Given the description of an element on the screen output the (x, y) to click on. 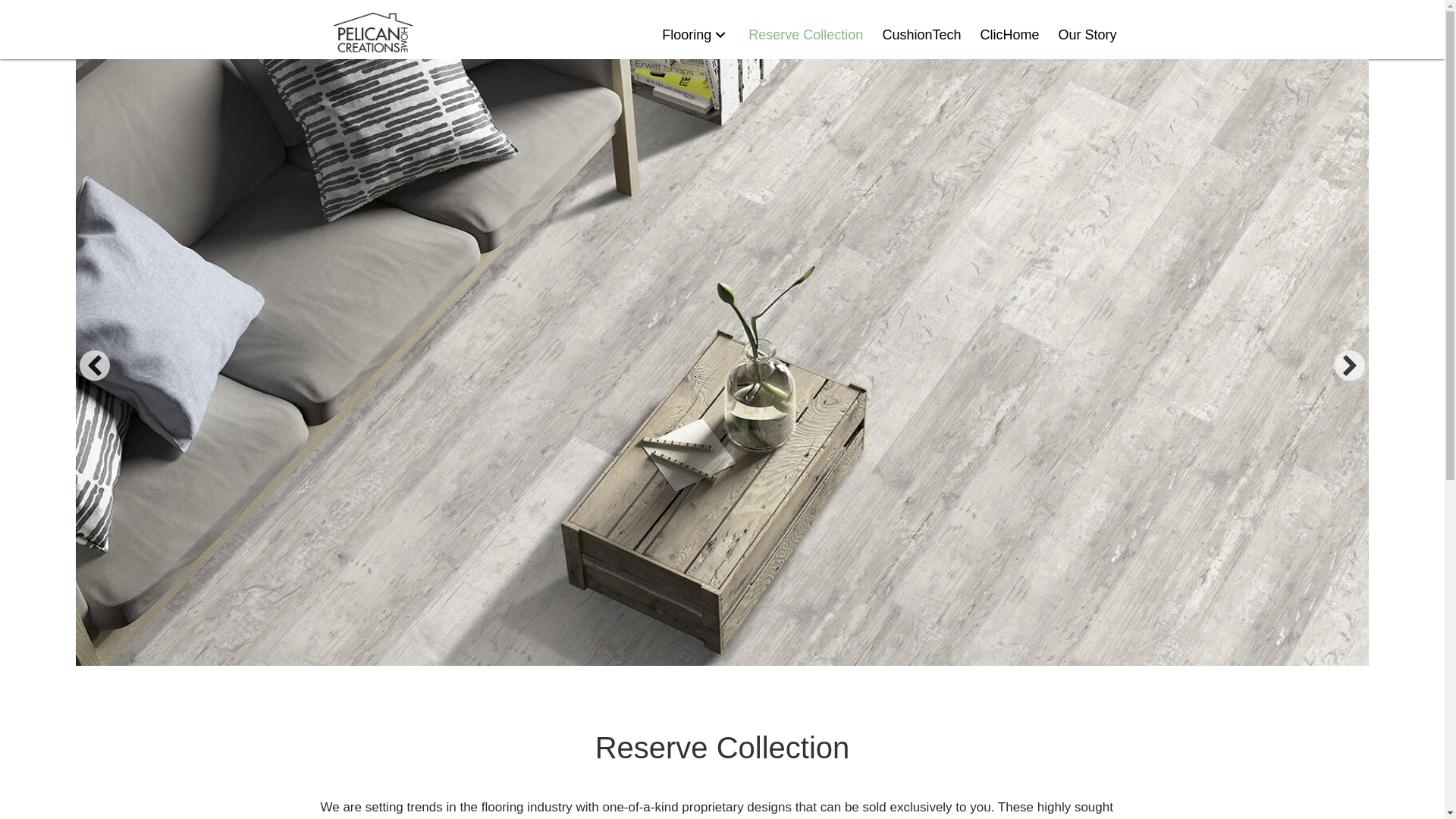
PelicanHomeCreations Logo (371, 32)
Reserve Collection (803, 29)
CushionTech (919, 30)
ClicHome (1007, 30)
Flooring (693, 25)
Our Story (1085, 31)
